Given the description of an element on the screen output the (x, y) to click on. 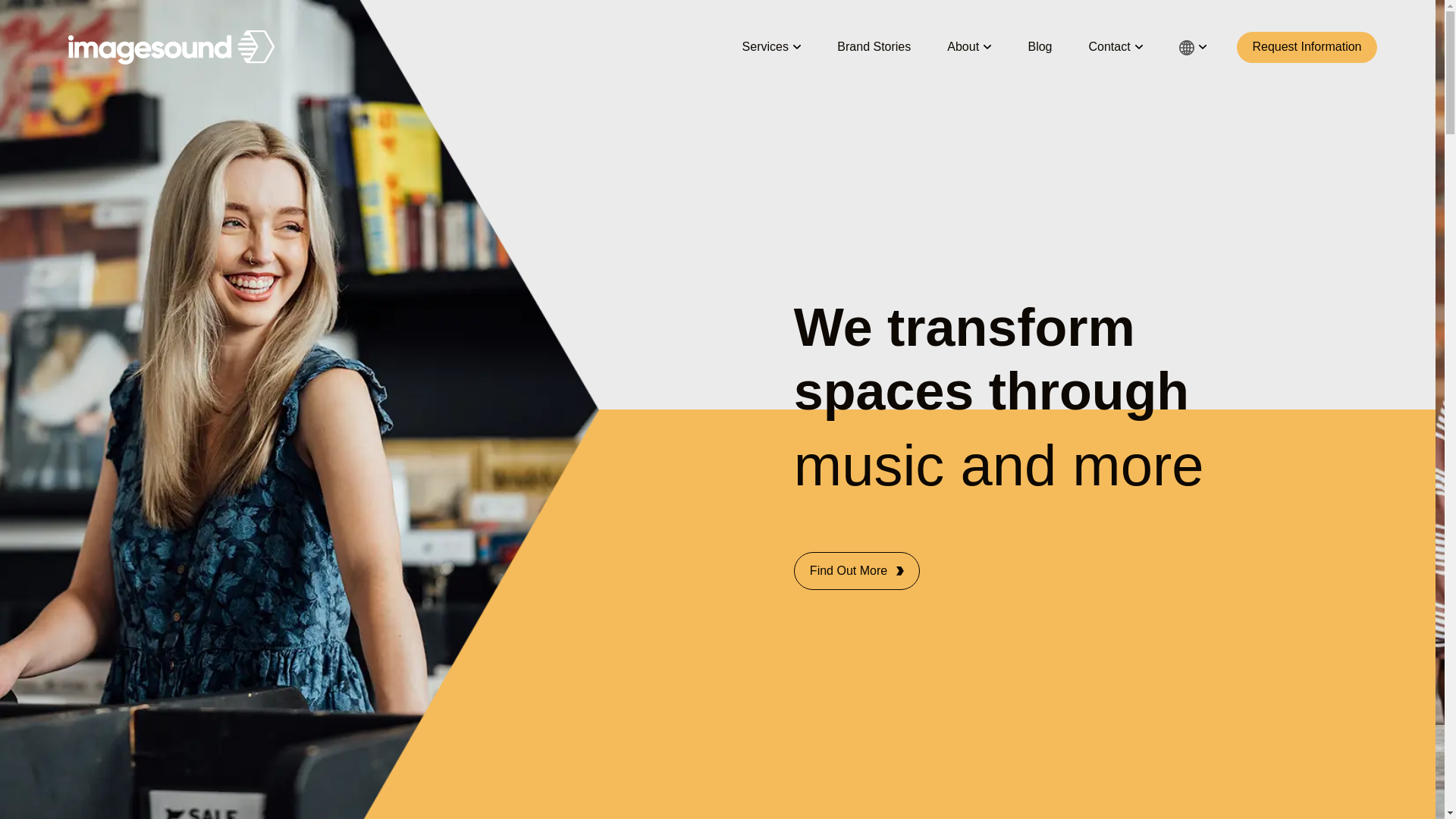
About (968, 47)
Brand Stories (874, 46)
Services (772, 47)
Blog (1040, 46)
